Given the description of an element on the screen output the (x, y) to click on. 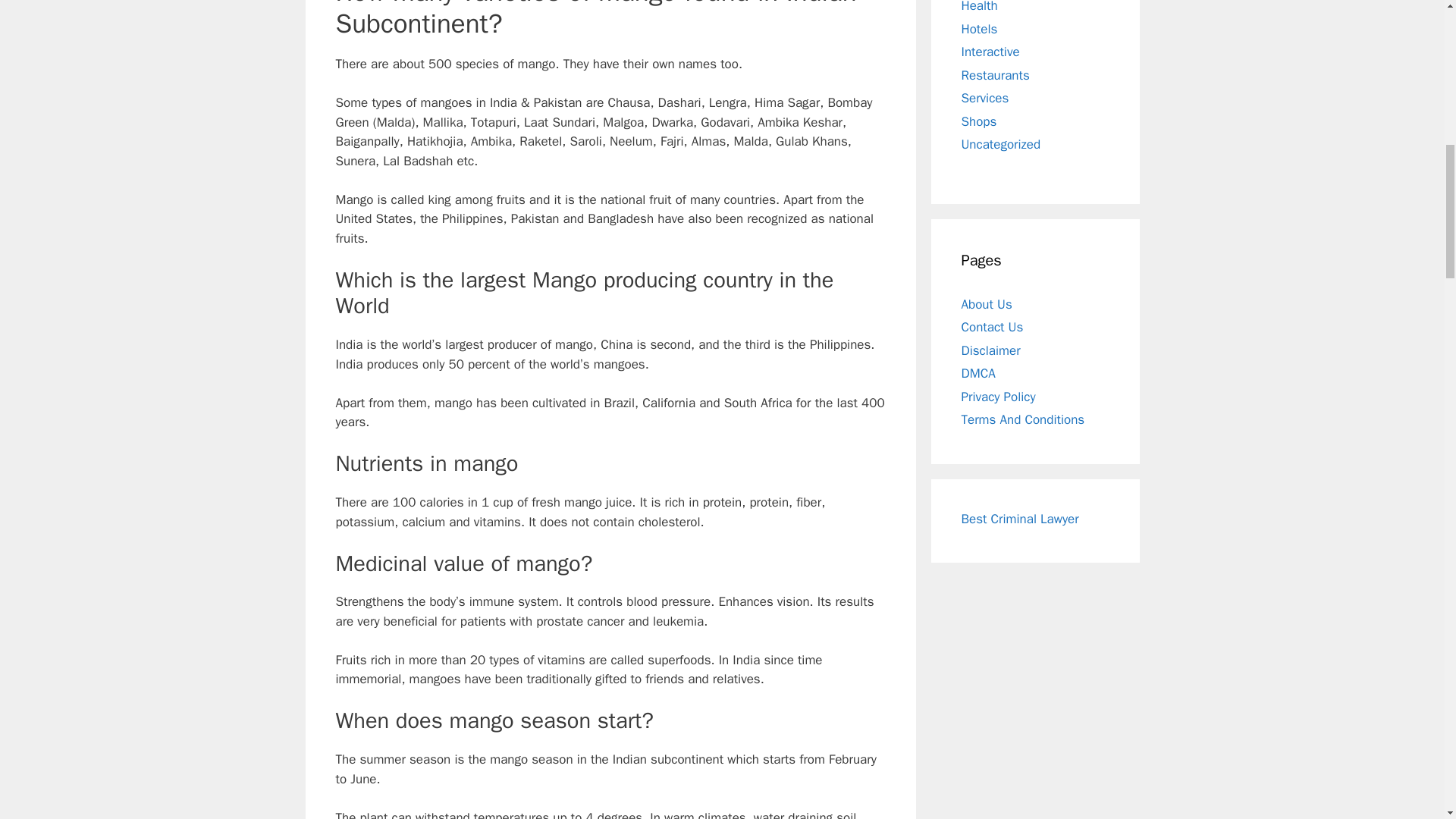
Services (984, 98)
Restaurants (994, 75)
Health (978, 6)
Hotels (978, 28)
Uncategorized (1000, 144)
Interactive (990, 51)
Shops (978, 121)
